Given the description of an element on the screen output the (x, y) to click on. 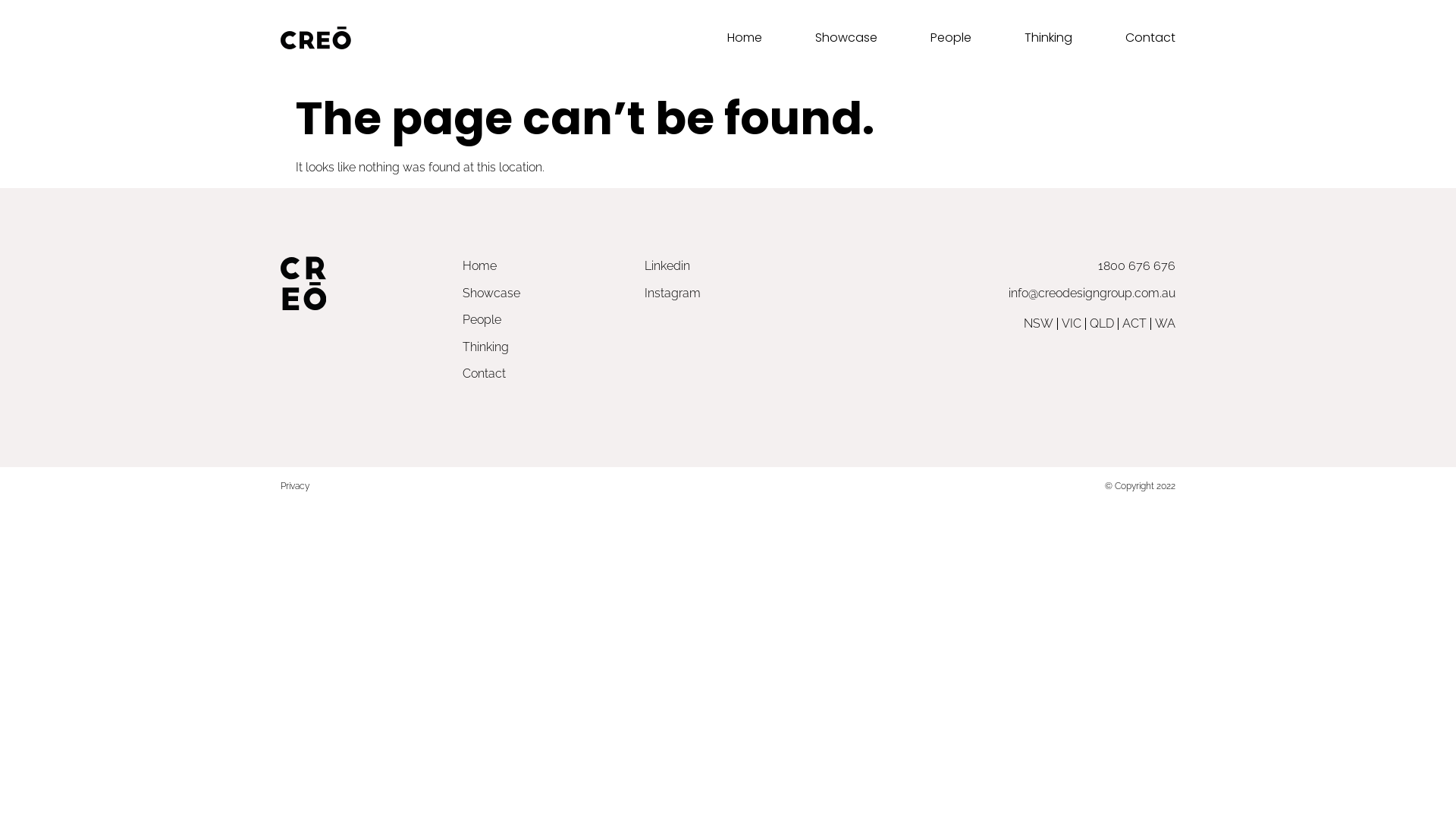
Showcase Element type: text (545, 293)
1800 676 676 Element type: text (1046, 266)
Thinking Element type: text (545, 347)
People Element type: text (950, 37)
Contact Element type: text (545, 373)
Privacy Element type: text (294, 485)
Home Element type: text (545, 266)
Instagram Element type: text (773, 293)
Linkedin Element type: text (773, 266)
Contact Element type: text (1150, 37)
NSW Element type: text (1038, 323)
VIC Element type: text (1071, 323)
People Element type: text (545, 319)
Thinking Element type: text (1048, 37)
WA Element type: text (1164, 323)
ACT Element type: text (1134, 323)
info@creodesigngroup.com.au Element type: text (1046, 293)
QLD Element type: text (1101, 323)
Home Element type: text (744, 37)
Showcase Element type: text (846, 37)
